Given the description of an element on the screen output the (x, y) to click on. 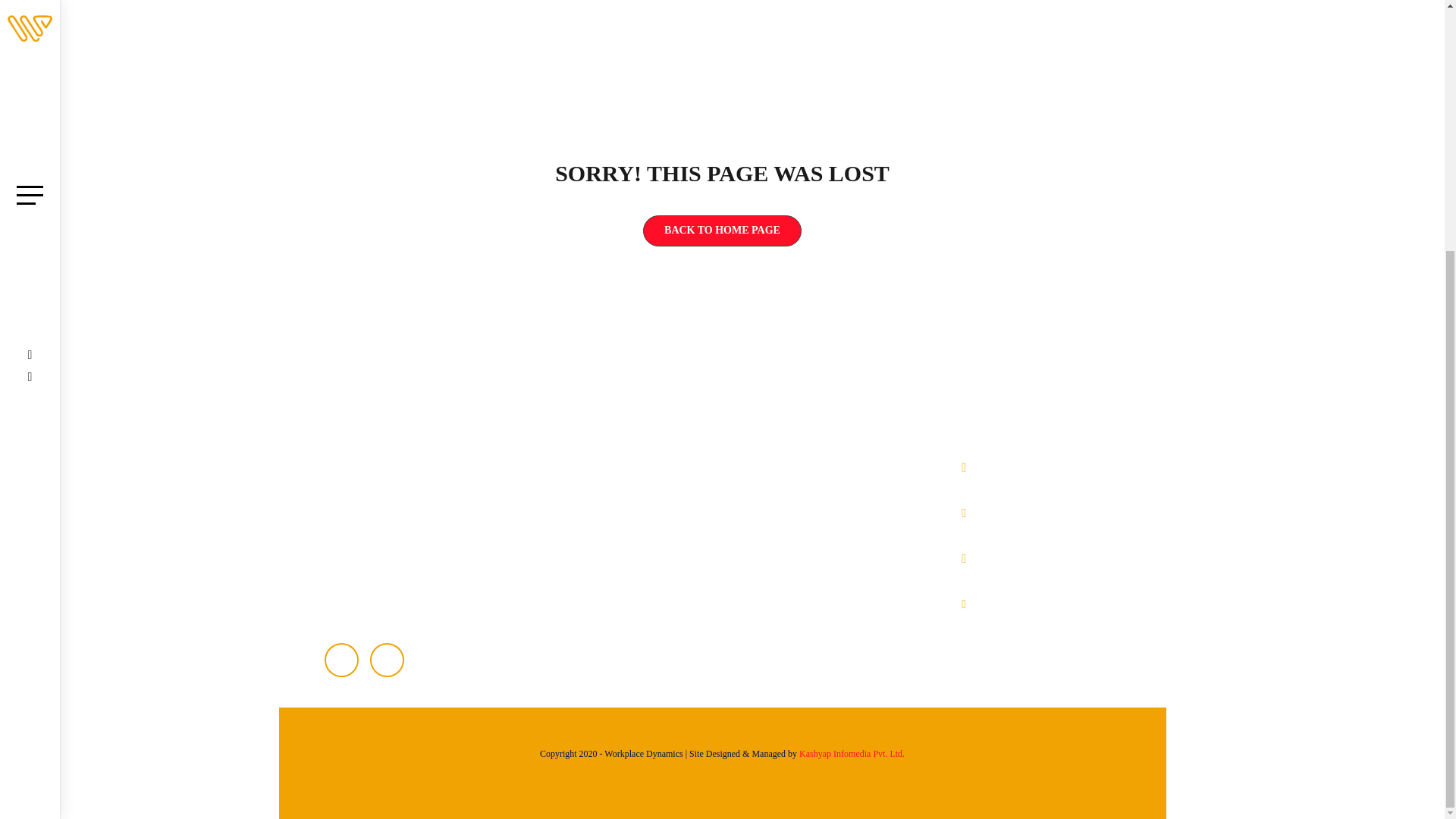
Advisory and Consulting Services (830, 469)
Home (600, 469)
Operational Excellence (805, 590)
Our Principal Consultants (645, 590)
About the Founder (629, 499)
Executive and Team Coaching (821, 499)
Blogs (599, 621)
Why Us (605, 530)
Leadership Development (809, 530)
BACK TO HOME PAGE (722, 230)
